Given the description of an element on the screen output the (x, y) to click on. 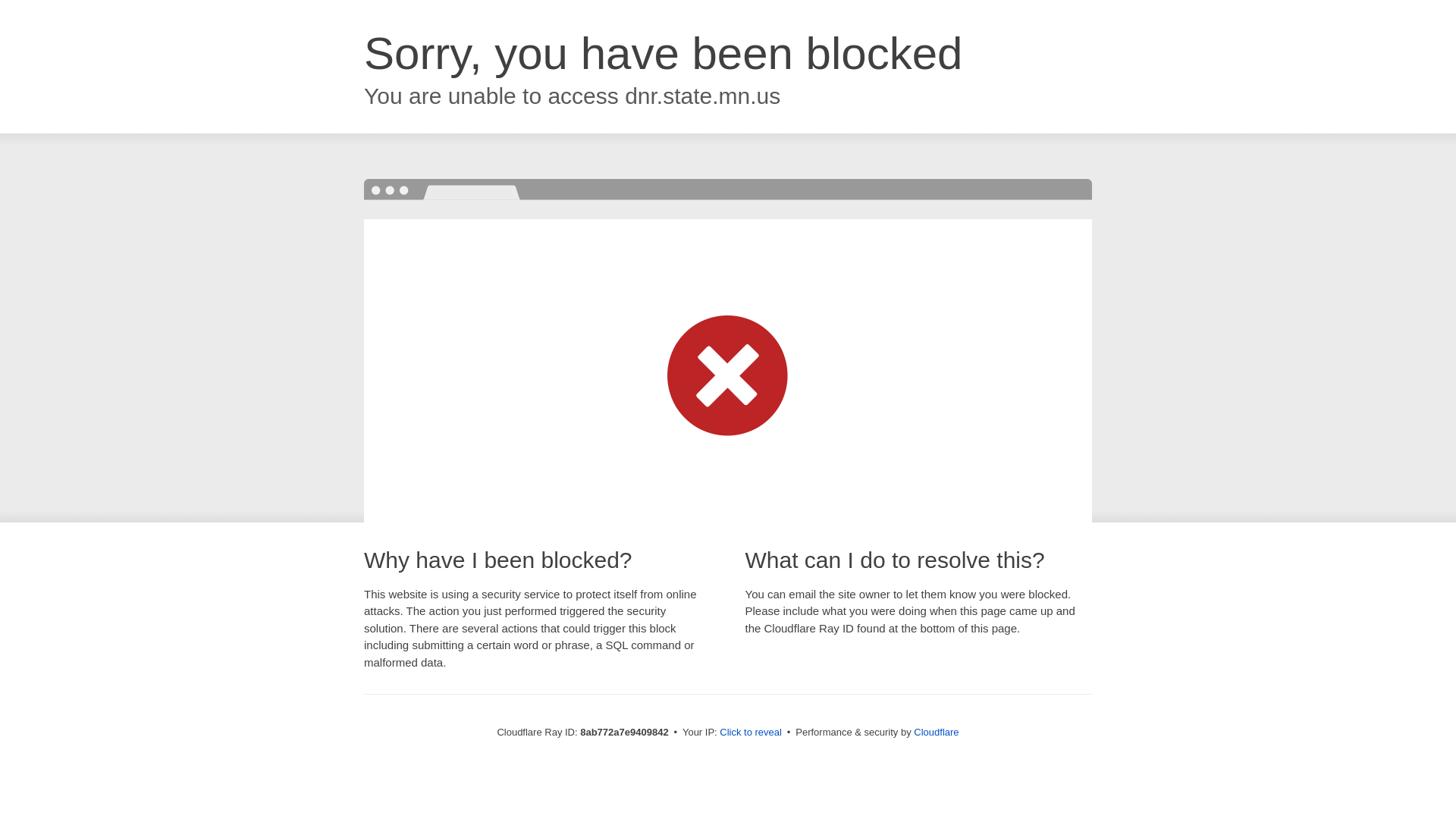
Click to reveal (750, 732)
Cloudflare (936, 731)
